Given the description of an element on the screen output the (x, y) to click on. 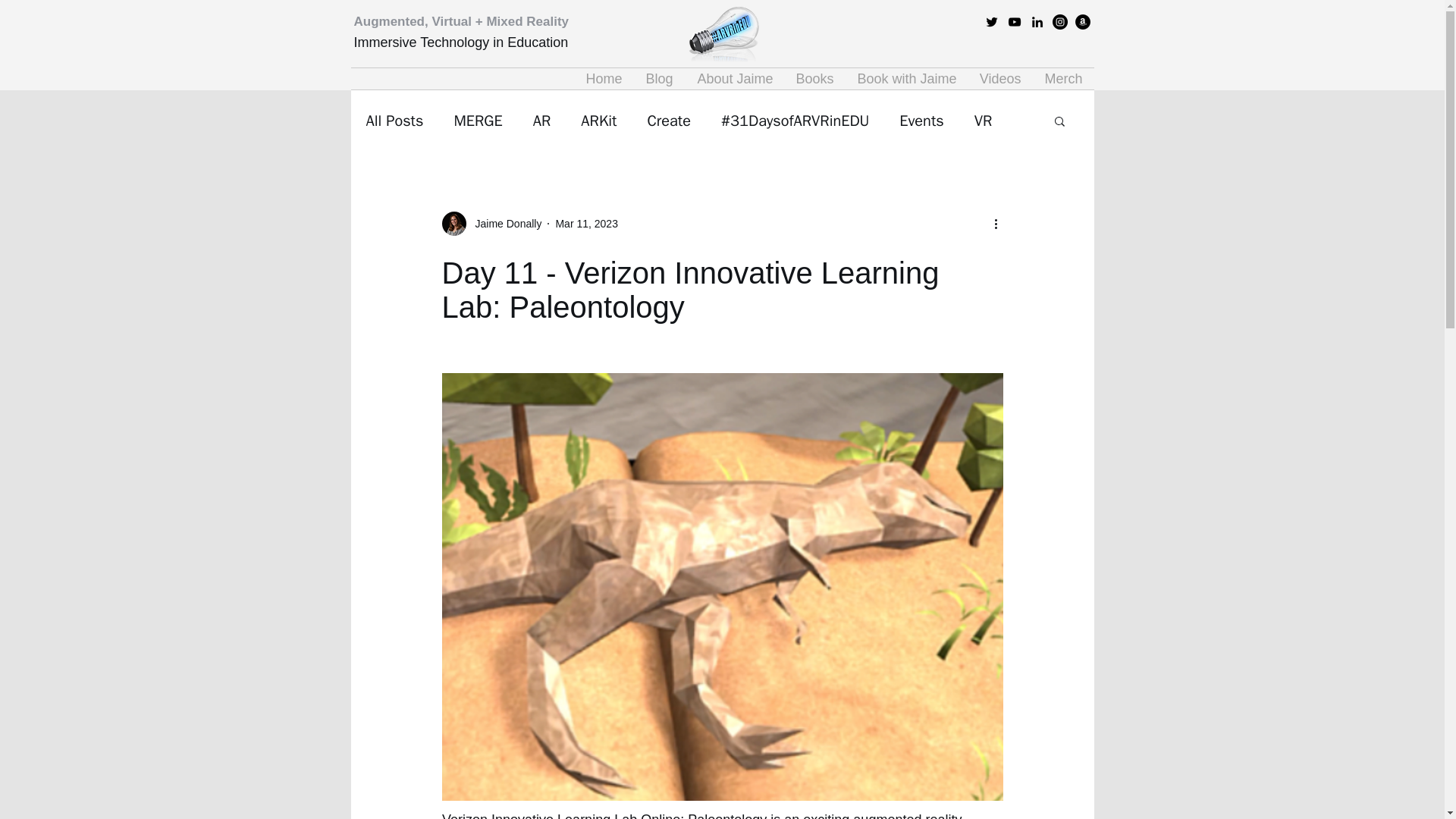
Mar 11, 2023 (585, 223)
Jaime Donally (503, 223)
Events (921, 120)
AR (541, 120)
ARKit (597, 120)
Home (603, 78)
All Posts (394, 120)
Videos (1000, 78)
Books (814, 78)
Create (668, 120)
